Given the description of an element on the screen output the (x, y) to click on. 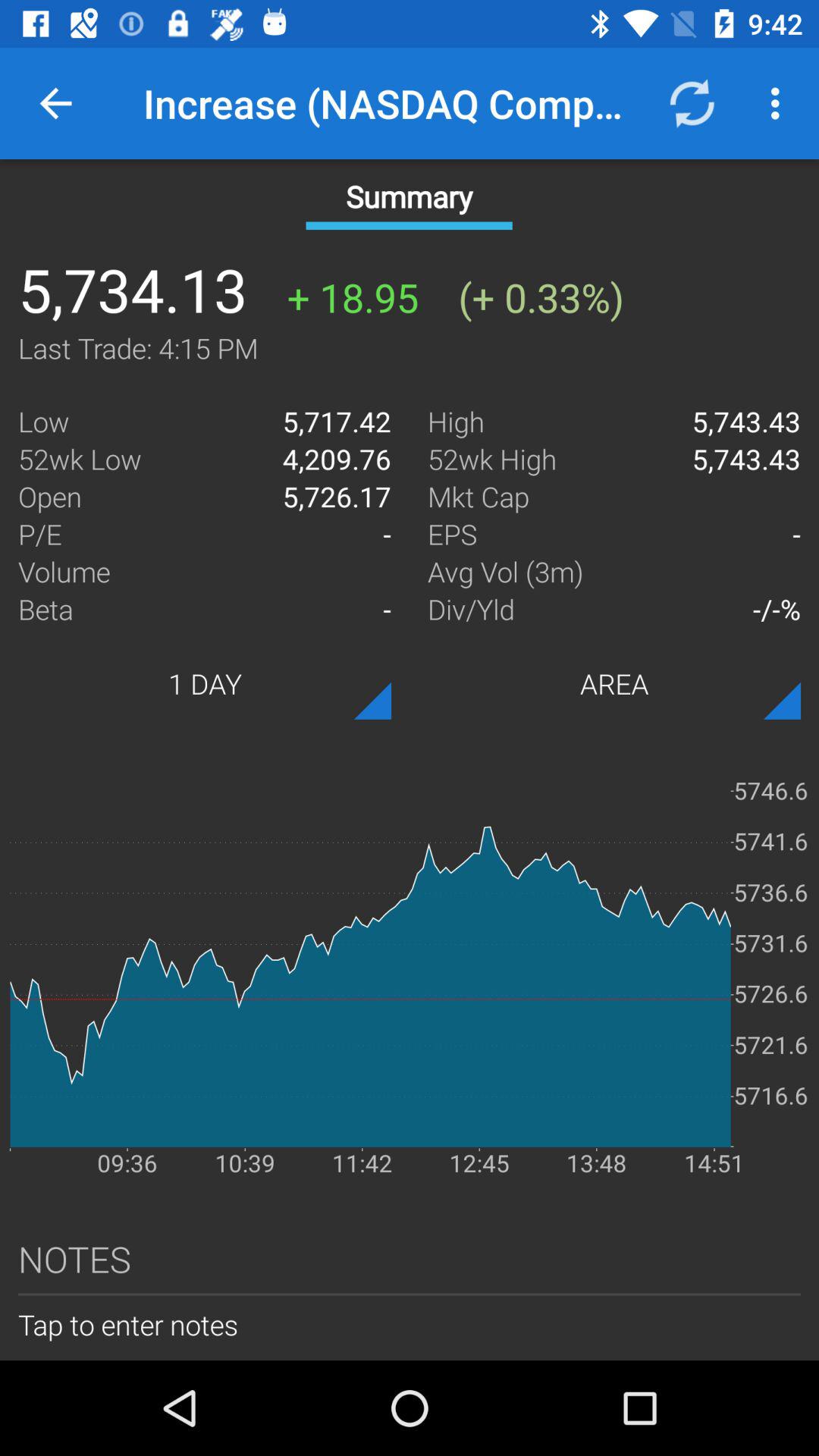
press item to the left of the area item (204, 683)
